Given the description of an element on the screen output the (x, y) to click on. 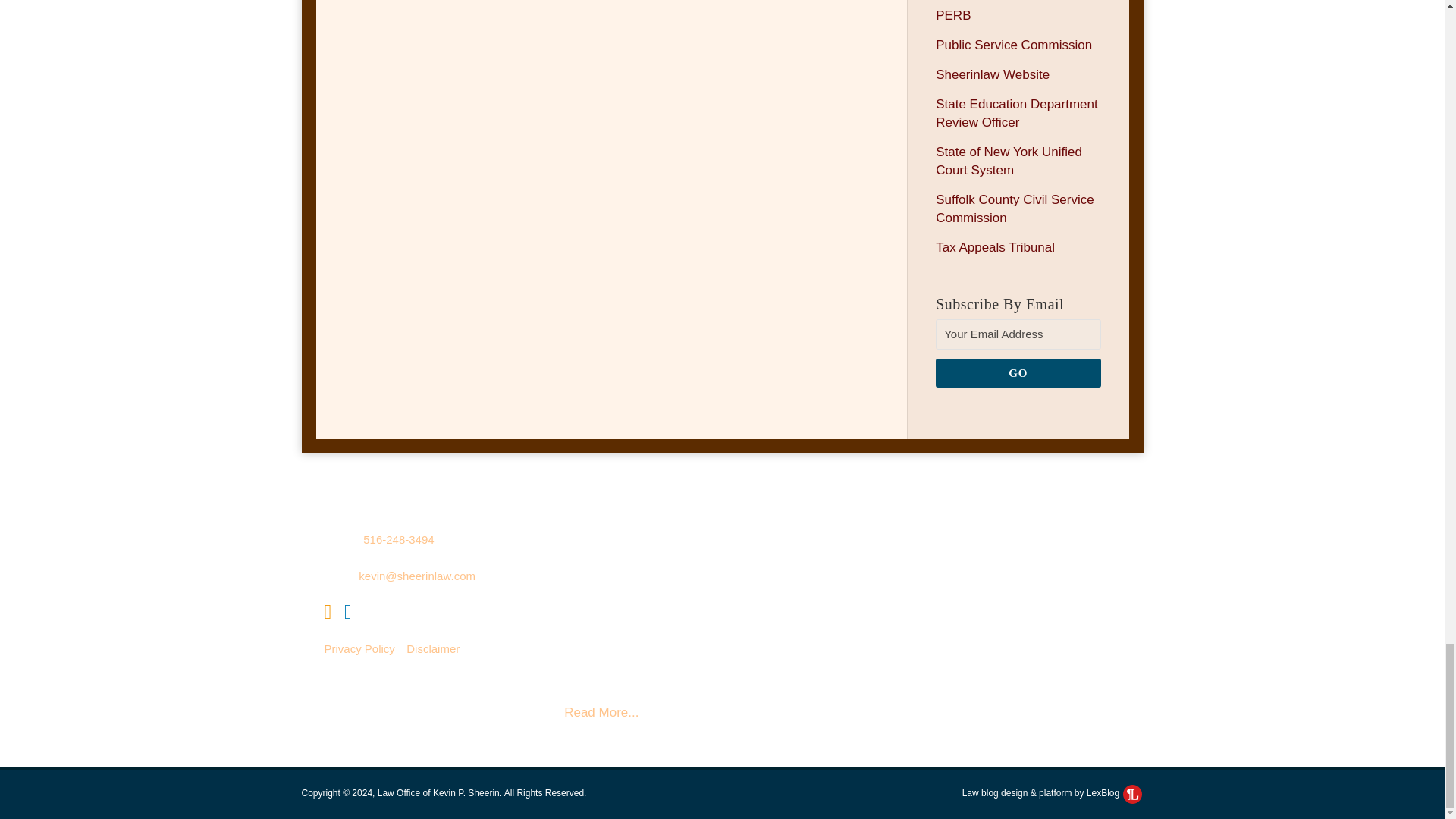
State of New York Unified Court System (1008, 160)
LexBlog Logo (1131, 793)
Suffolk County Civil Service Commission (1015, 208)
GO (1018, 372)
